Given the description of an element on the screen output the (x, y) to click on. 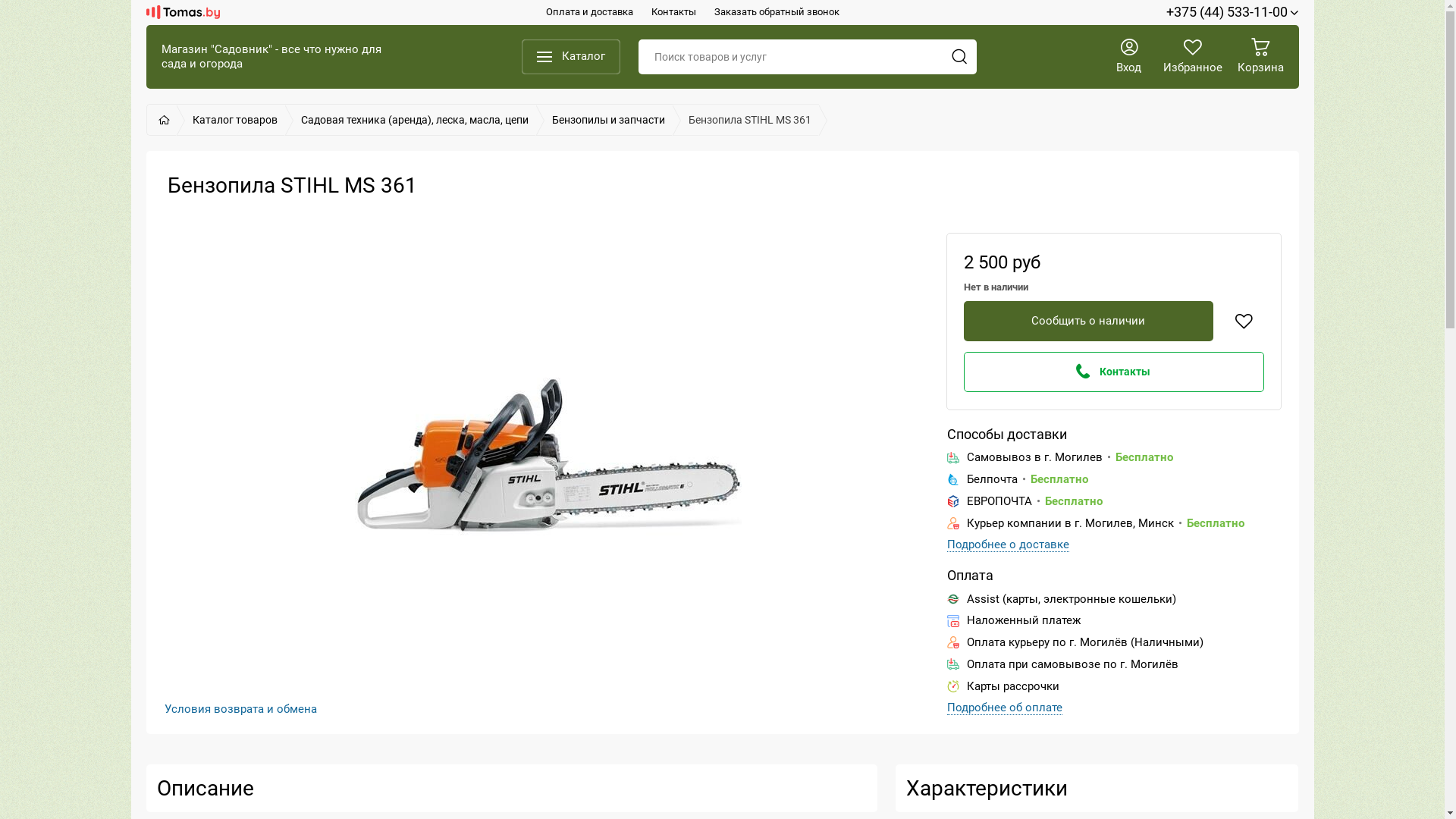
+375 (44) 533-11-00 Element type: text (1232, 12)
